Given the description of an element on the screen output the (x, y) to click on. 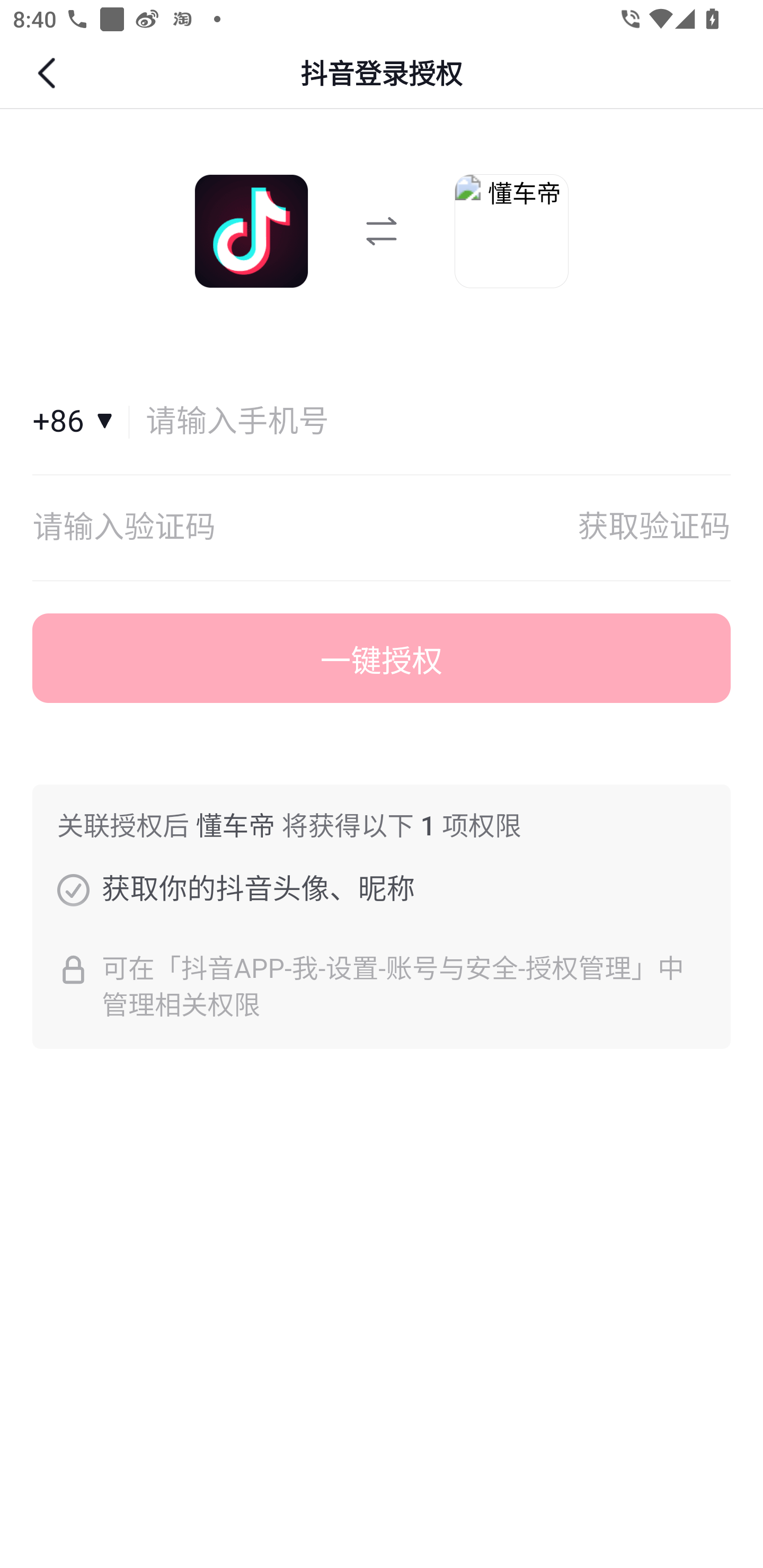
返回 (49, 72)
国家和地区+86 (81, 421)
获取验证码 (653, 527)
一键授权 (381, 658)
获取你的抖音头像、昵称 (72, 889)
